Given the description of an element on the screen output the (x, y) to click on. 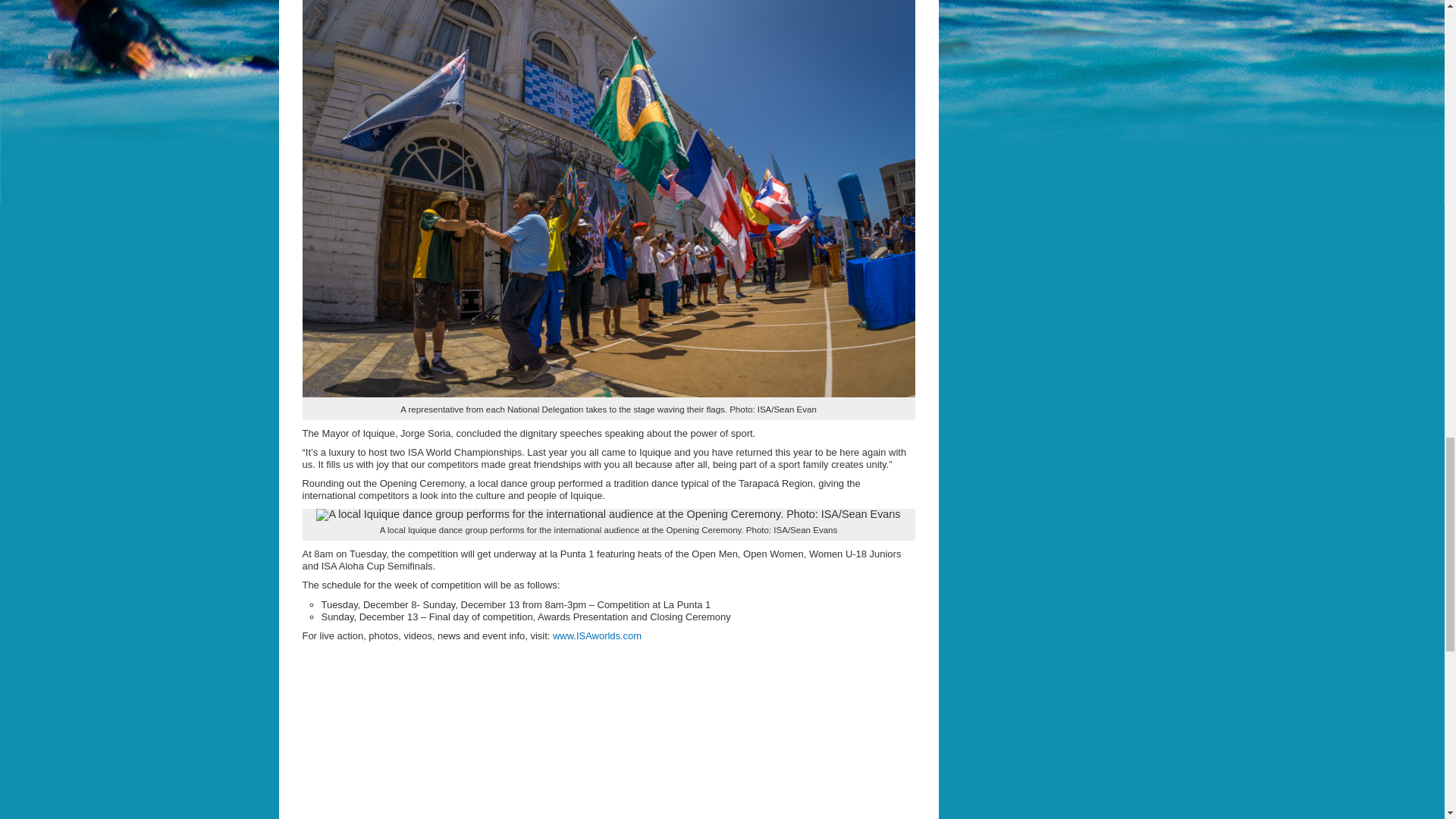
www.ISAworlds.com (597, 635)
